Given the description of an element on the screen output the (x, y) to click on. 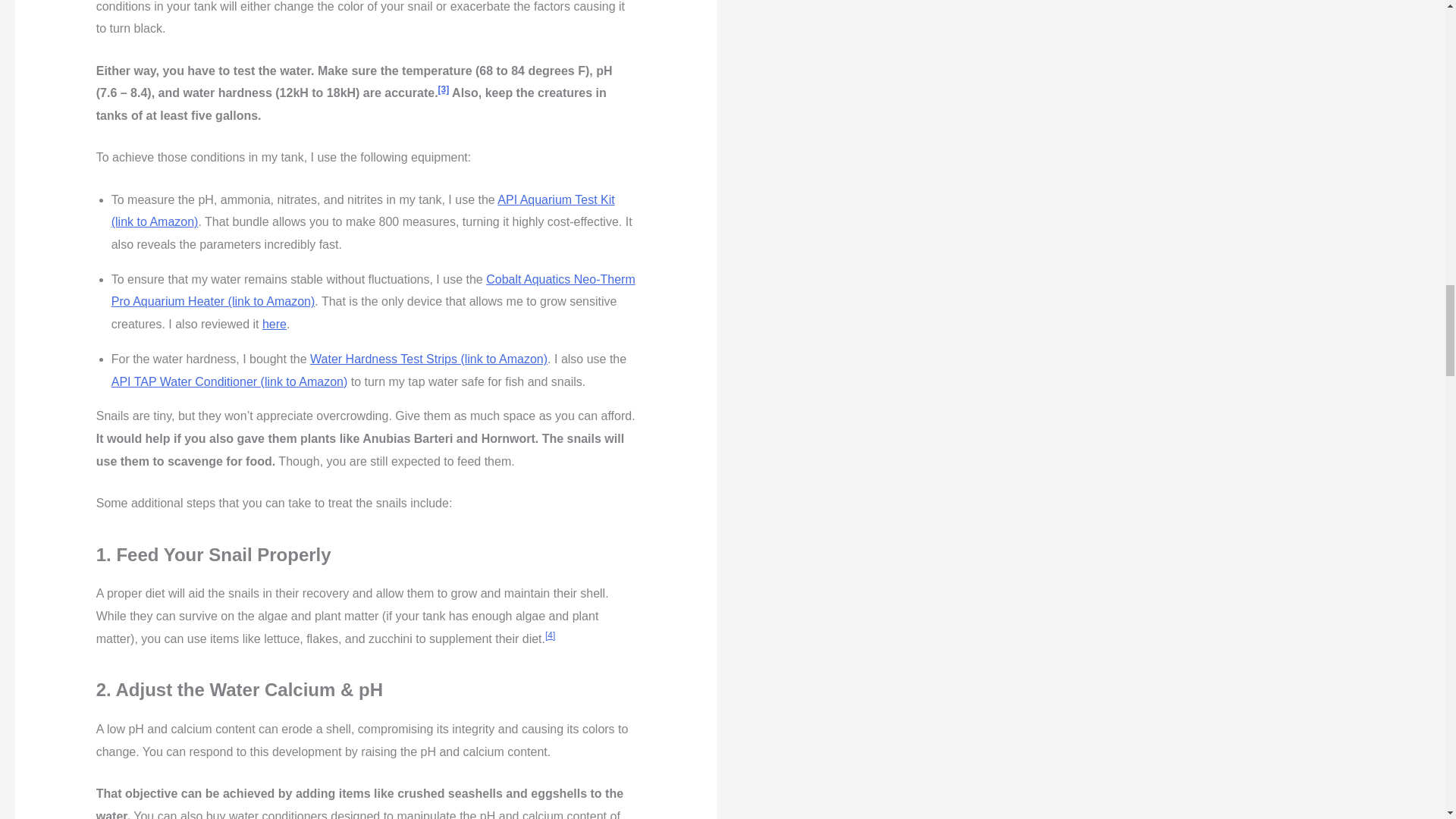
here (274, 323)
